Given the description of an element on the screen output the (x, y) to click on. 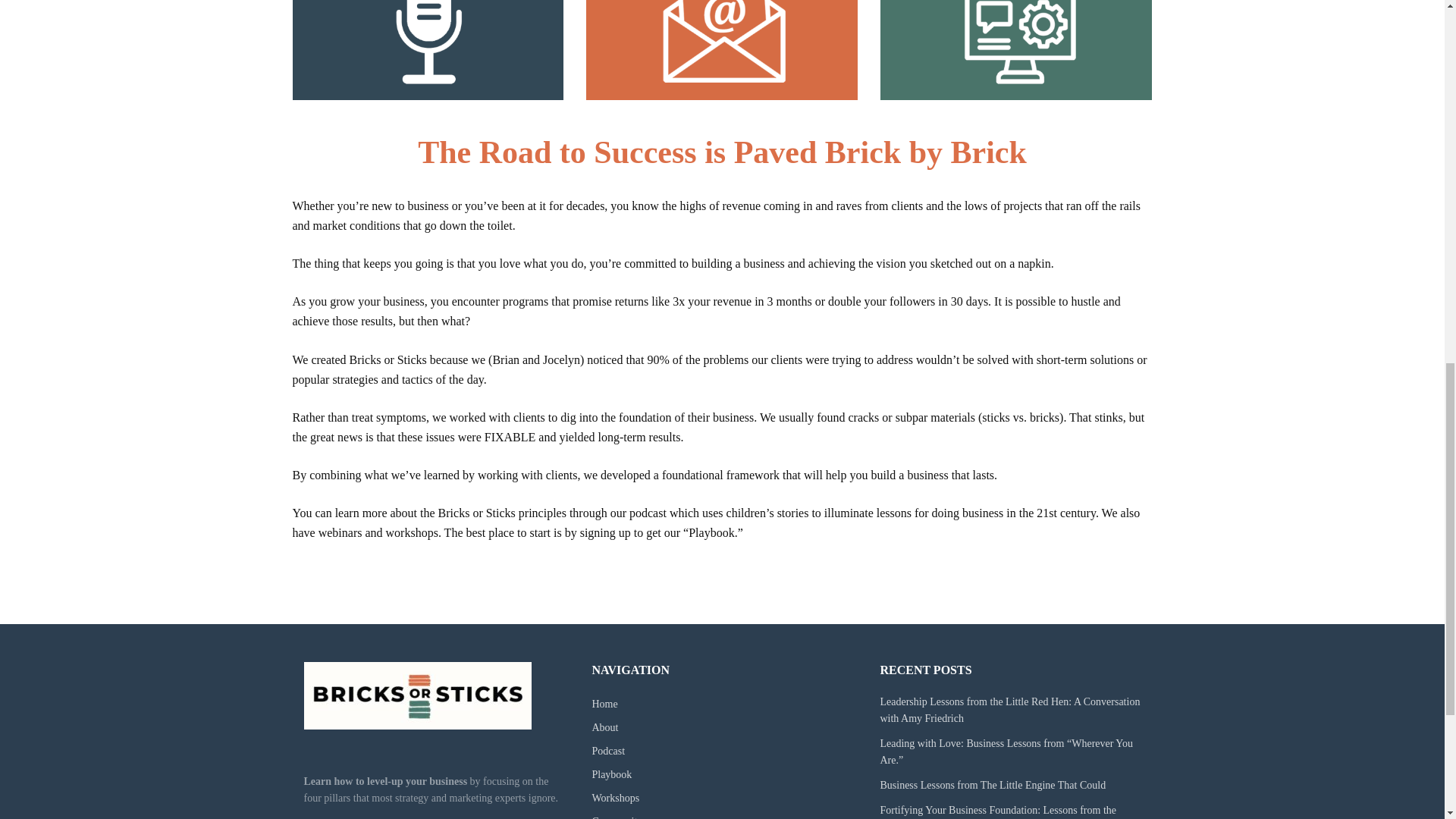
Playbook (611, 774)
Workshops (615, 797)
About (604, 727)
Community (616, 817)
Podcast (607, 750)
Home (604, 704)
